Given the description of an element on the screen output the (x, y) to click on. 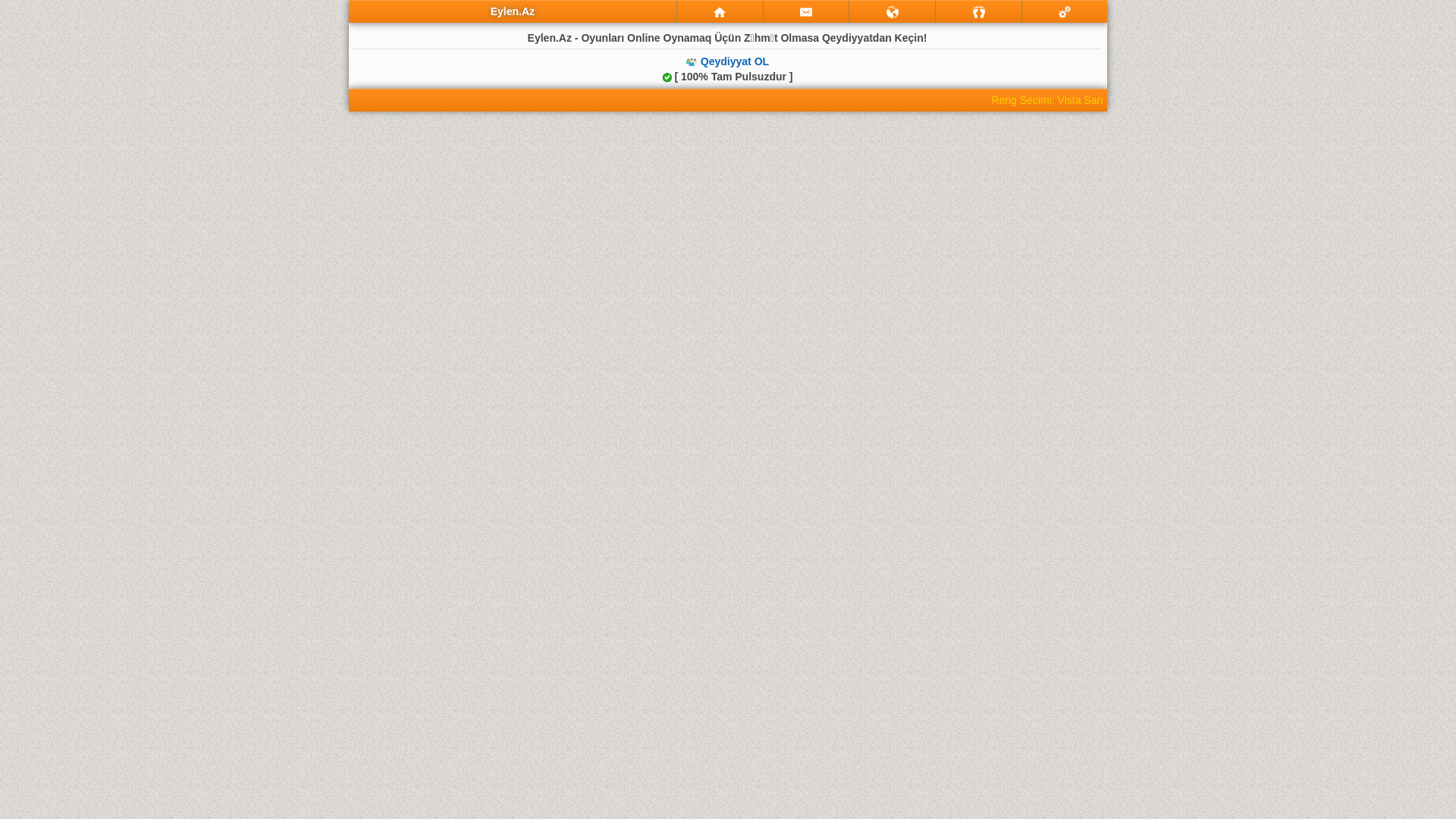
Mektublar Element type: hover (892, 12)
Qeydiyyat OL Element type: text (734, 61)
Mektublar Element type: hover (892, 11)
Mesajlar Element type: hover (806, 12)
Home Element type: hover (719, 11)
Mesajlar Element type: hover (806, 11)
Qonaqlar Element type: hover (978, 11)
Eylen.Az Element type: text (512, 11)
Qonaqlar Element type: hover (978, 12)
Home Element type: hover (719, 12)
